Given the description of an element on the screen output the (x, y) to click on. 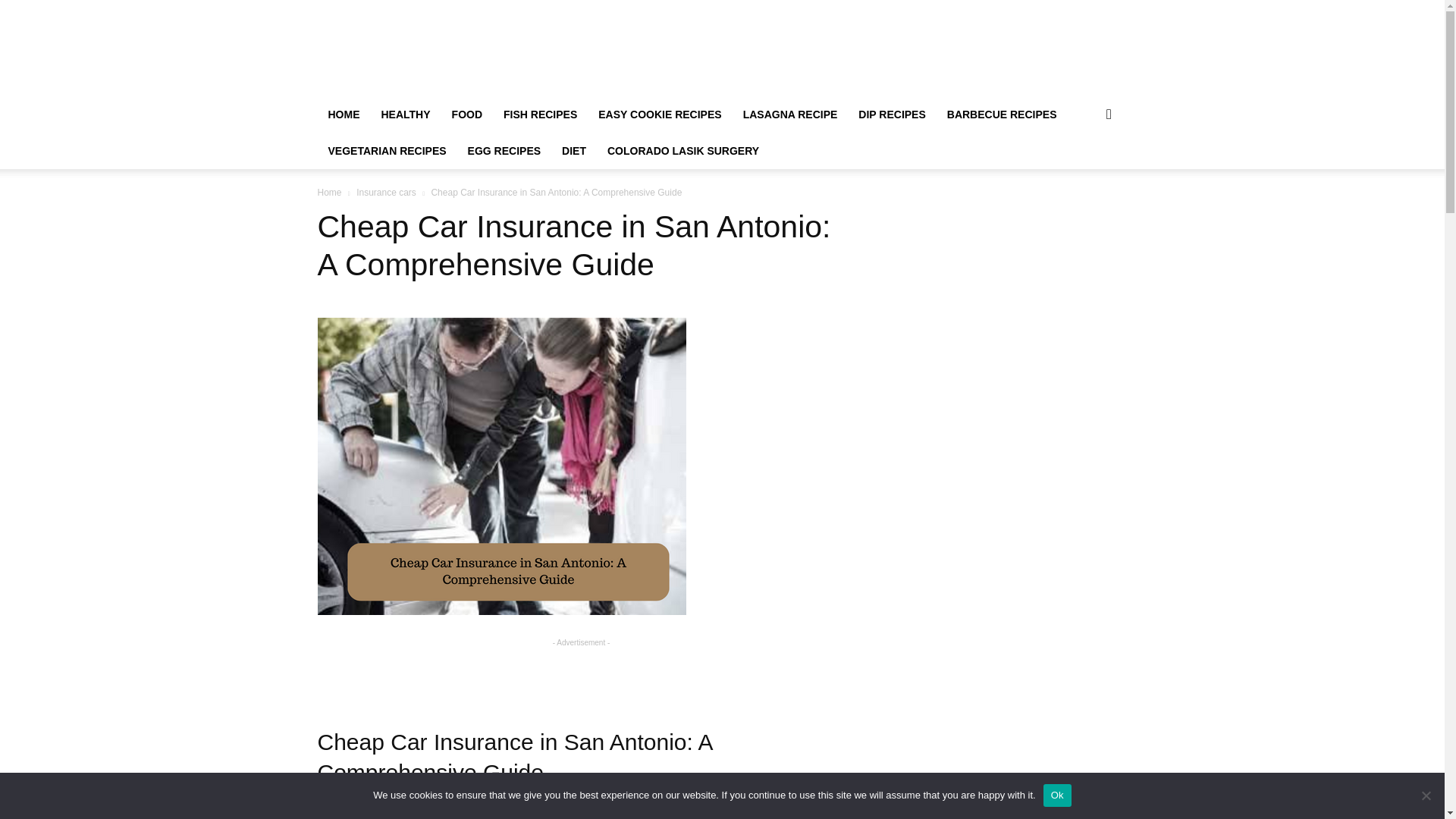
View all posts in Insurance cars (386, 192)
DIET (573, 150)
FISH RECIPES (540, 114)
Advertisement (580, 673)
Search (1085, 174)
Home (328, 192)
Insurance cars (386, 192)
FOOD (467, 114)
DIP RECIPES (891, 114)
Advertisement (850, 55)
